Given the description of an element on the screen output the (x, y) to click on. 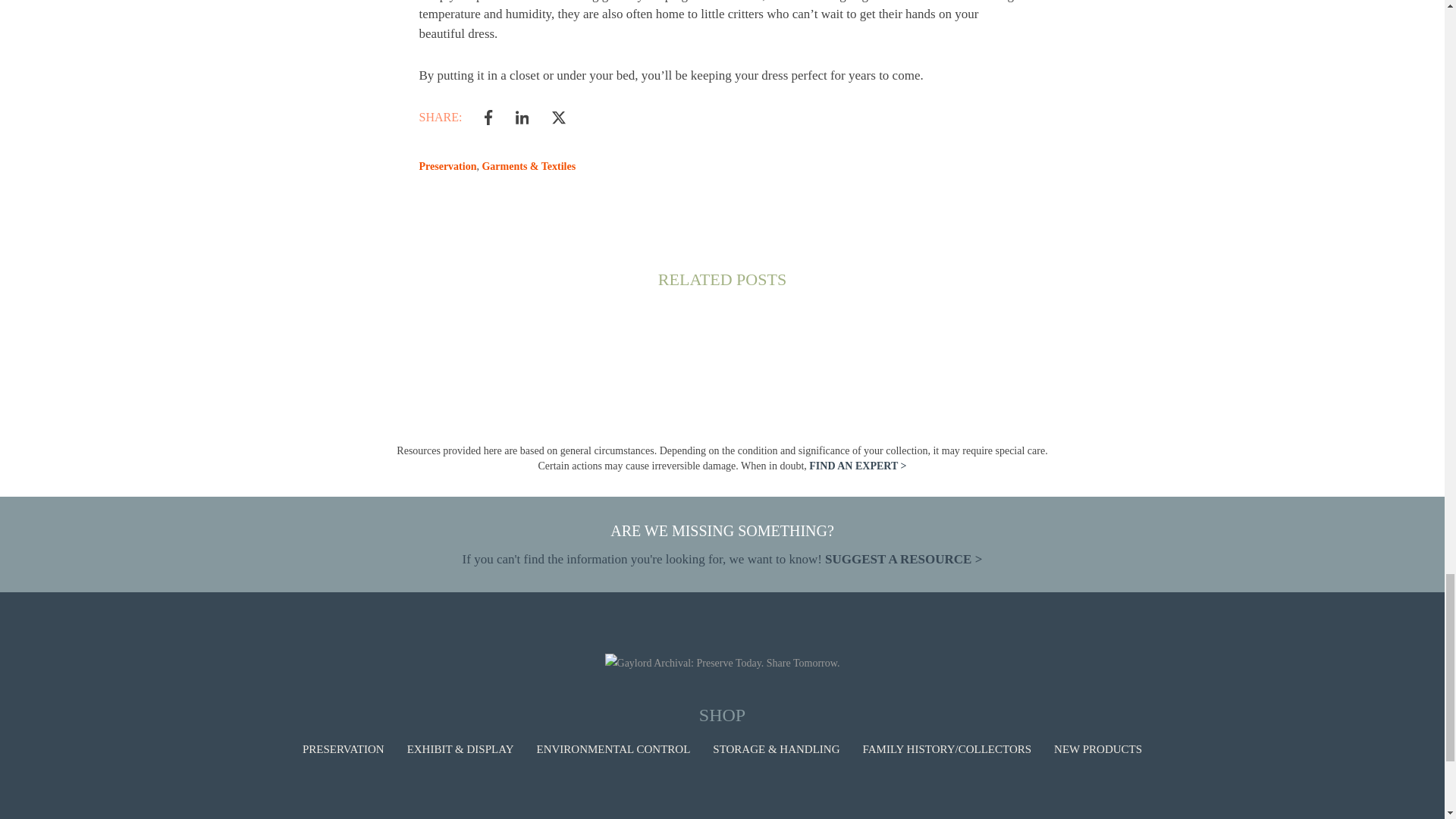
Share on LinkedIn (521, 116)
Gaylord Archival: Preserve Today. Share Tomorrow. (722, 663)
Share on X (558, 116)
Share on Facebook (488, 116)
